Given the description of an element on the screen output the (x, y) to click on. 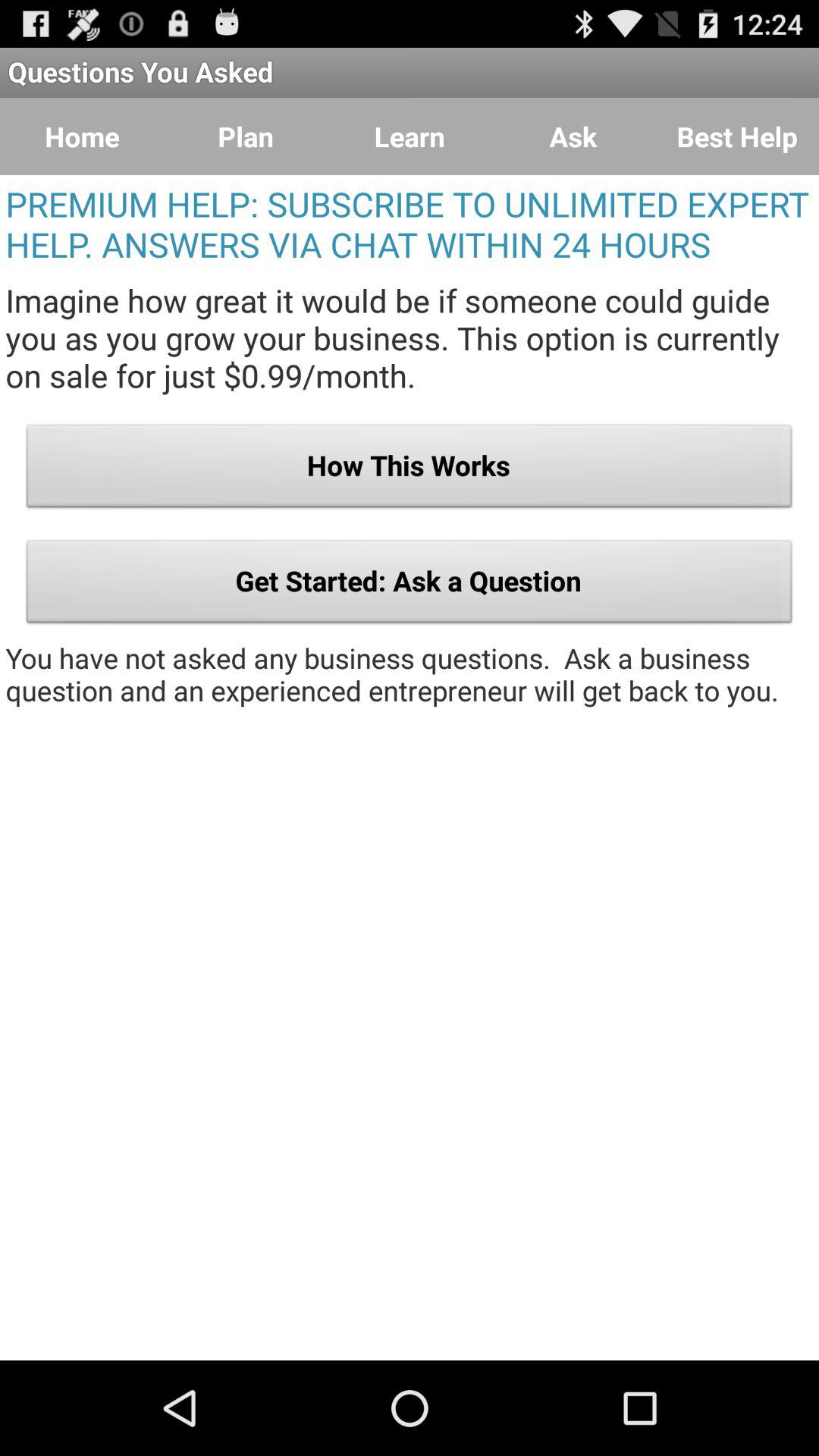
choose app above the premium help subscribe (409, 136)
